Given the description of an element on the screen output the (x, y) to click on. 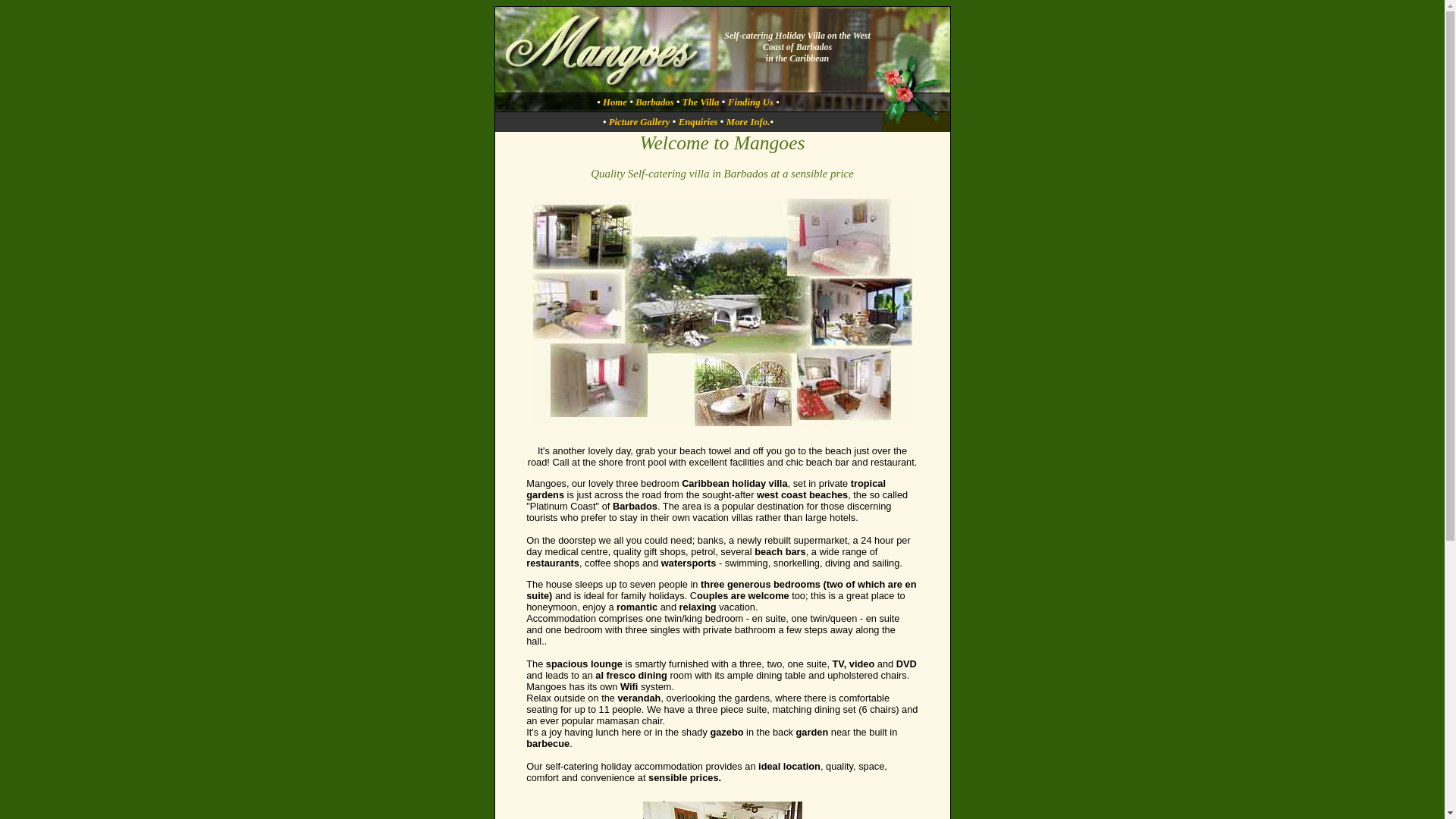
Barbados (655, 102)
More Info. (748, 122)
Finding Us (750, 102)
The Villa (699, 102)
Picture Gallery (640, 122)
Enquiries (699, 122)
